Given the description of an element on the screen output the (x, y) to click on. 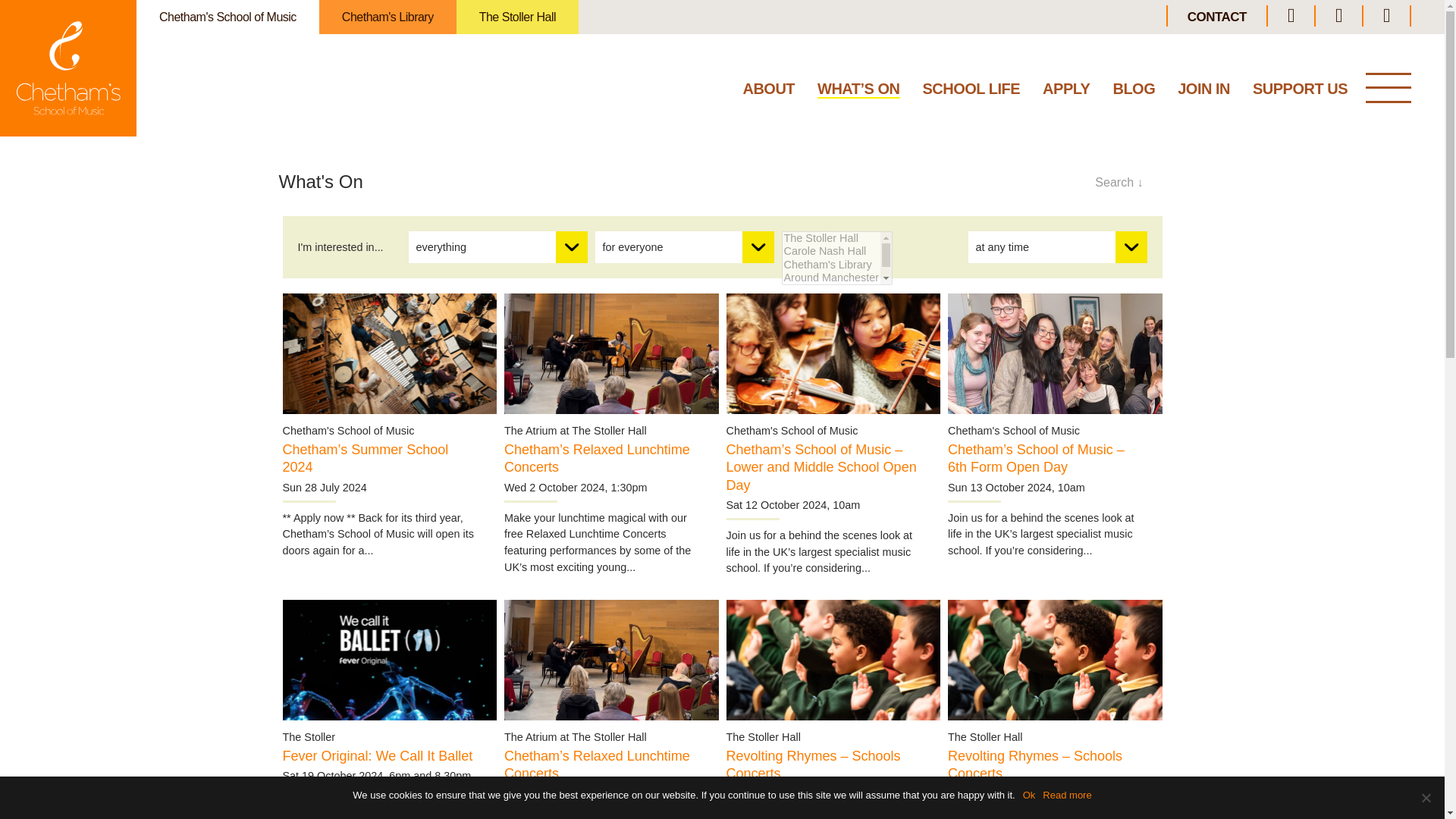
at all venues (836, 257)
Chetham's School of Music (68, 68)
CONTACT (1217, 16)
ABOUT (768, 91)
Chetham's Library (387, 16)
Chetham's School of Music (227, 16)
SCHOOL LIFE (970, 91)
No (1425, 797)
The Stoller Hall (517, 16)
